Given the description of an element on the screen output the (x, y) to click on. 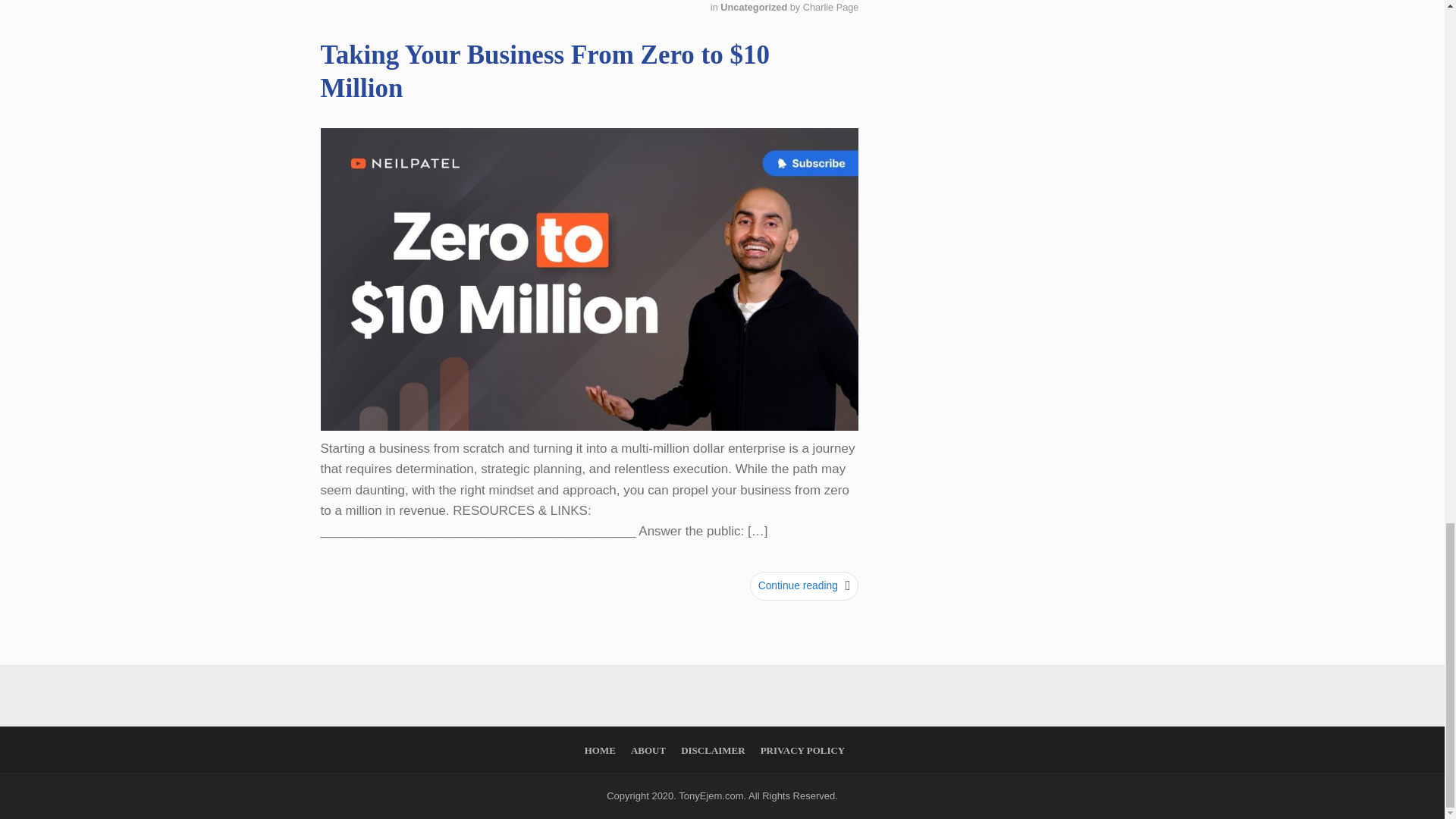
Uncategorized (754, 7)
ABOUT (647, 749)
Charlie Page (831, 7)
PRIVACY POLICY (802, 749)
DISCLAIMER (713, 749)
HOME (600, 749)
